Given the description of an element on the screen output the (x, y) to click on. 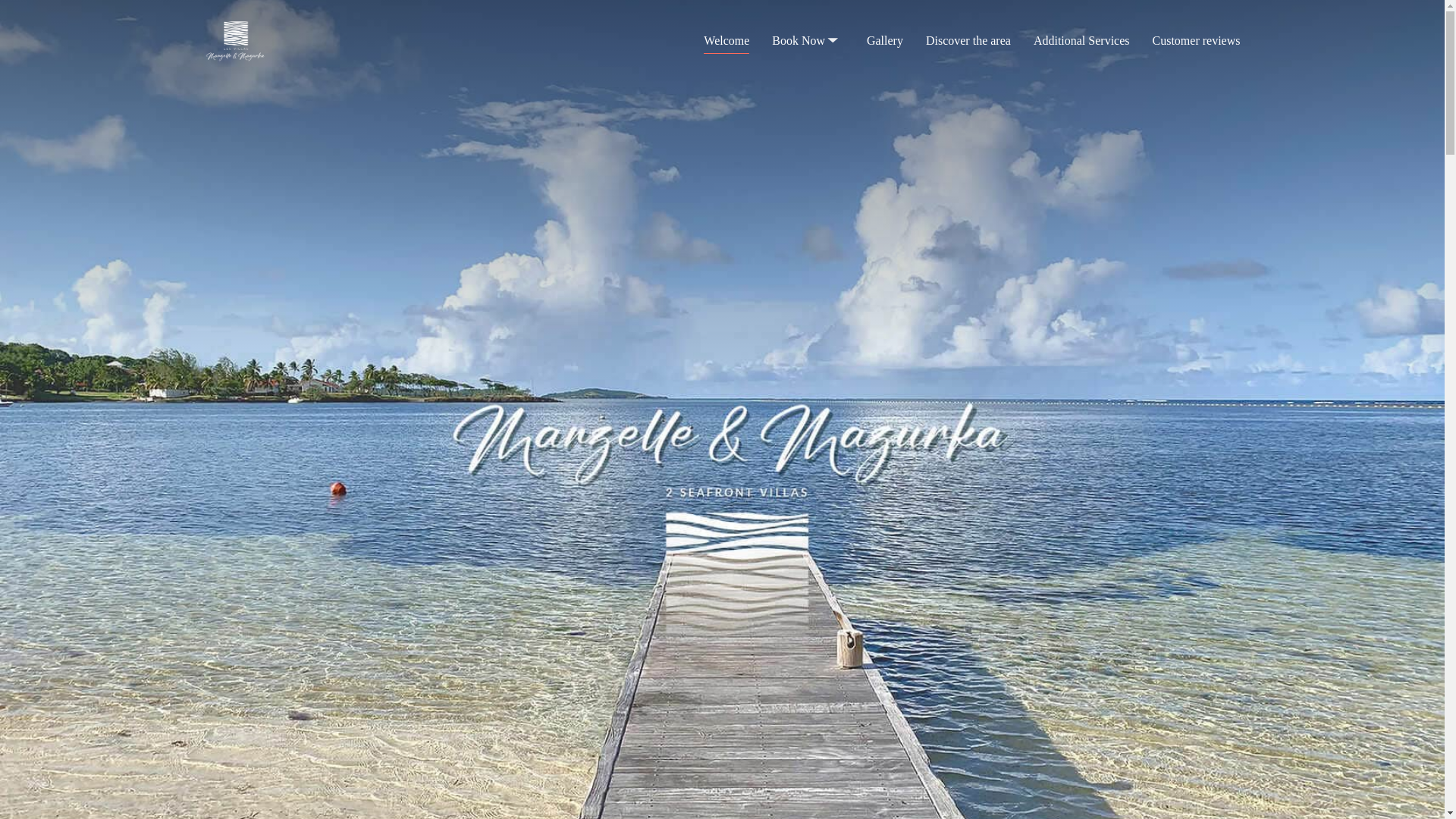
Additional Services (1081, 39)
Customer reviews (1196, 39)
Book Now (807, 40)
Discover the area (968, 39)
Image Title (236, 40)
